Given the description of an element on the screen output the (x, y) to click on. 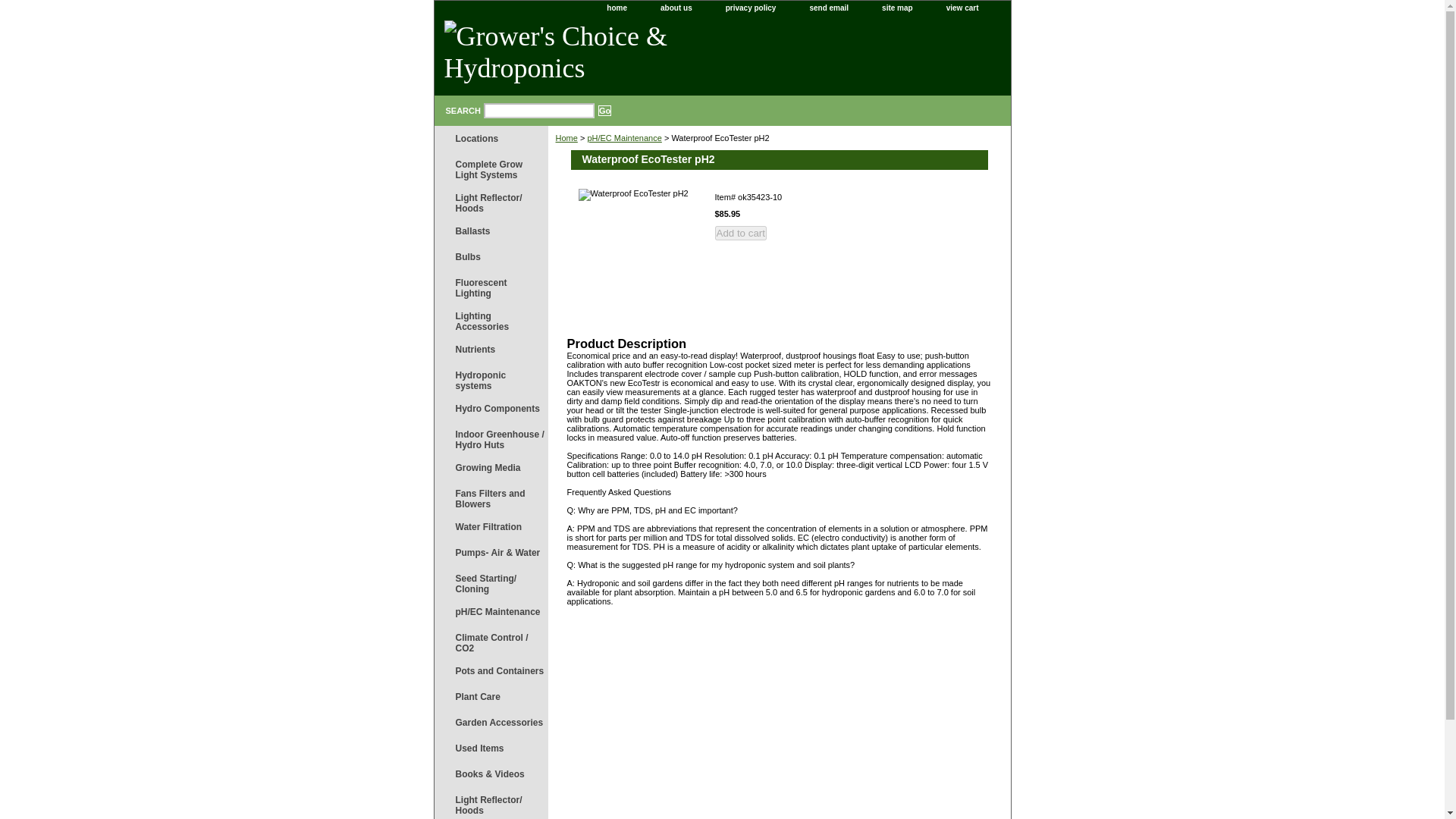
about us (676, 8)
Lighting Accessories (490, 319)
Home (565, 137)
view cart (968, 8)
Used Items (490, 748)
Fans Filters and Blowers (490, 497)
Waterproof EcoTester pH2       (639, 249)
Ballasts (490, 231)
Hydro Components (490, 408)
Water Filtration (490, 526)
privacy policy (751, 8)
Hydroponic systems (490, 378)
Nutrients (490, 349)
Growing Media (490, 467)
send email (828, 8)
